Given the description of an element on the screen output the (x, y) to click on. 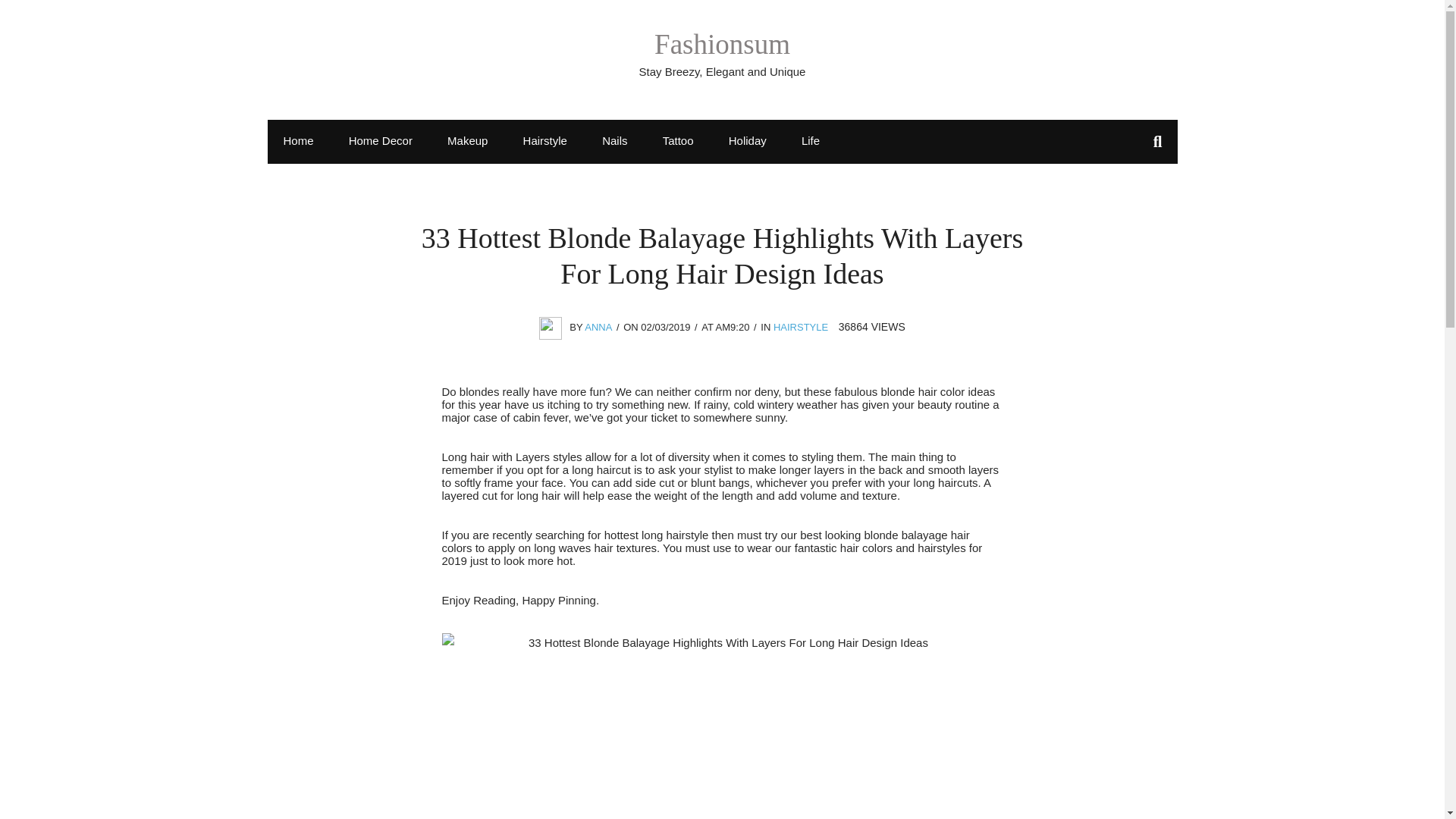
Life (810, 140)
Makeup (466, 140)
Search (28, 15)
Tattoo (678, 140)
Fashionsum (721, 43)
Fashionsum (721, 43)
Nails (614, 140)
Home Decor (380, 140)
Home (297, 140)
ANNA (598, 326)
HAIRSTYLE (800, 326)
Posts by Anna (598, 326)
Hairstyle (544, 140)
Holiday (748, 140)
